Given the description of an element on the screen output the (x, y) to click on. 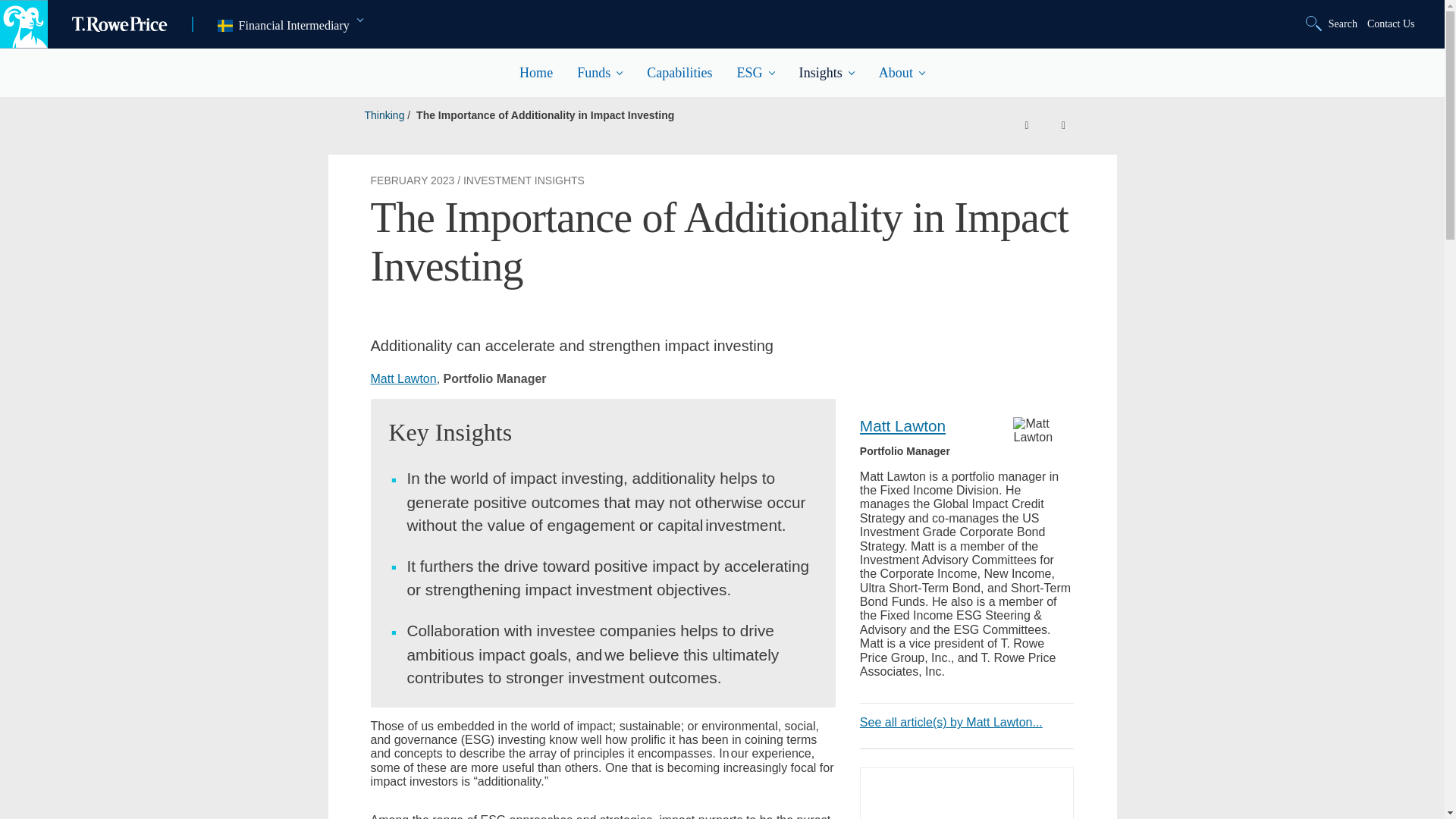
Contact Us (289, 25)
Search (1391, 24)
Matt Lawton (1333, 24)
Aerial view of Mangrove forest and river. (1043, 430)
